Given the description of an element on the screen output the (x, y) to click on. 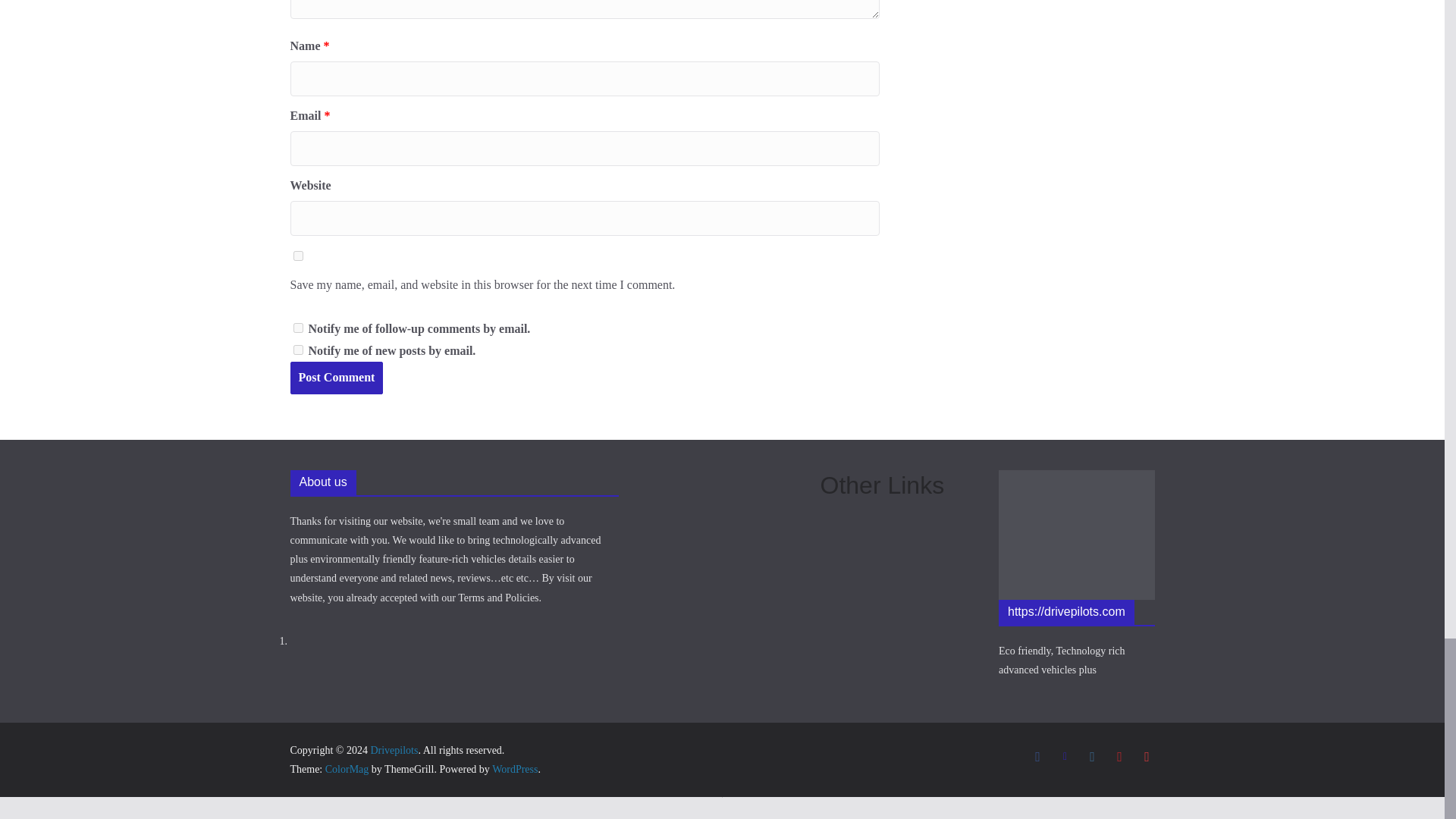
Post Comment (335, 377)
yes (297, 255)
subscribe (297, 349)
subscribe (297, 327)
